Given the description of an element on the screen output the (x, y) to click on. 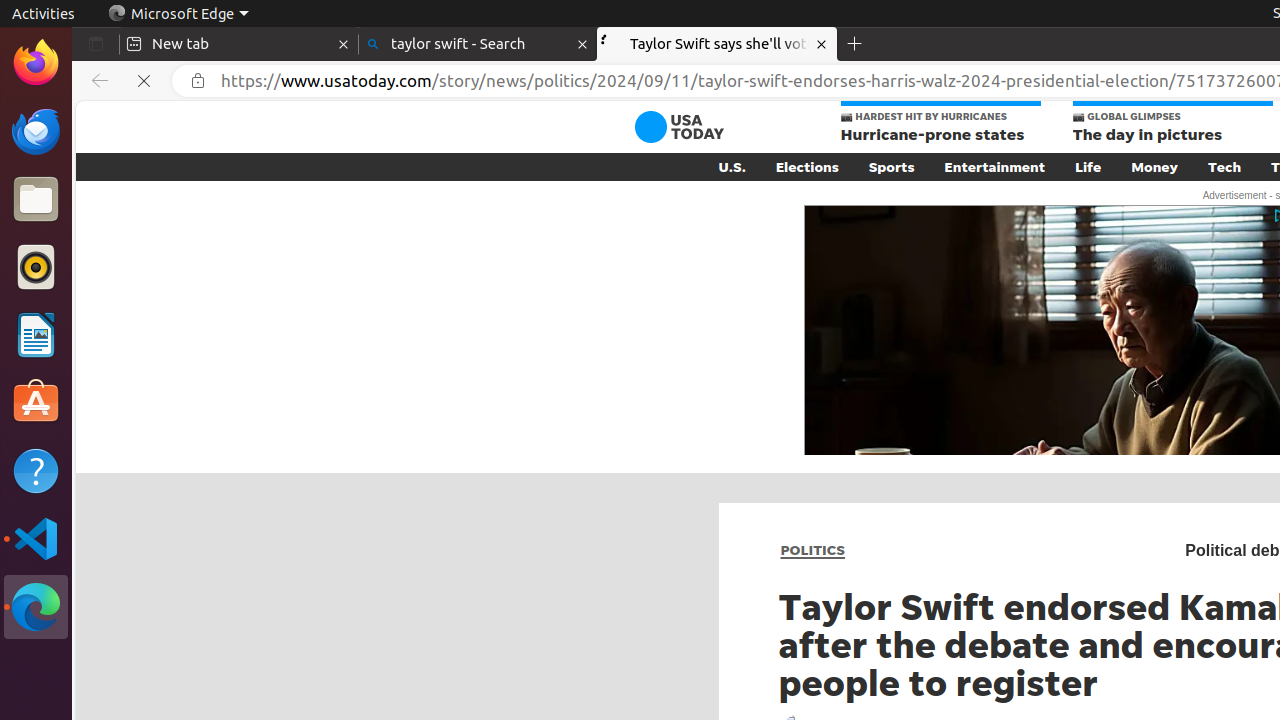
Entertainment Element type: link (995, 167)
Tab actions menu Element type: push-button (96, 44)
New Tab Element type: push-button (855, 44)
Tech Element type: link (1224, 167)
Visual Studio Code Element type: push-button (36, 538)
